Given the description of an element on the screen output the (x, y) to click on. 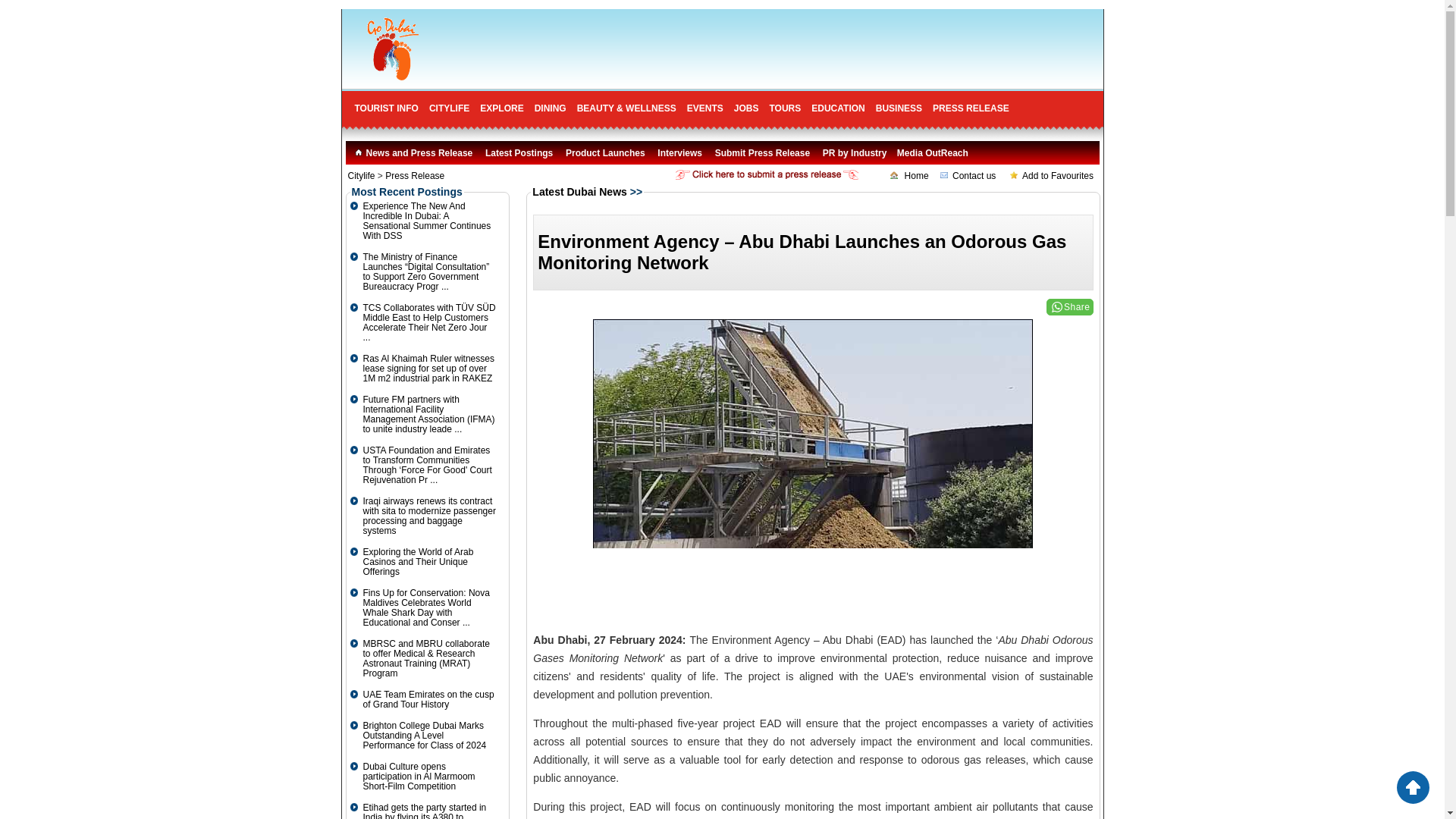
JOBS (746, 107)
Press Release (414, 175)
 Submit Press Release  (761, 153)
EDUCATION (837, 107)
TOURS (784, 107)
 Latest Postings  (519, 153)
Media OutReach (932, 153)
 Product Launches  (604, 153)
PRESS RELEASE (970, 107)
BUSINESS (898, 107)
